Given the description of an element on the screen output the (x, y) to click on. 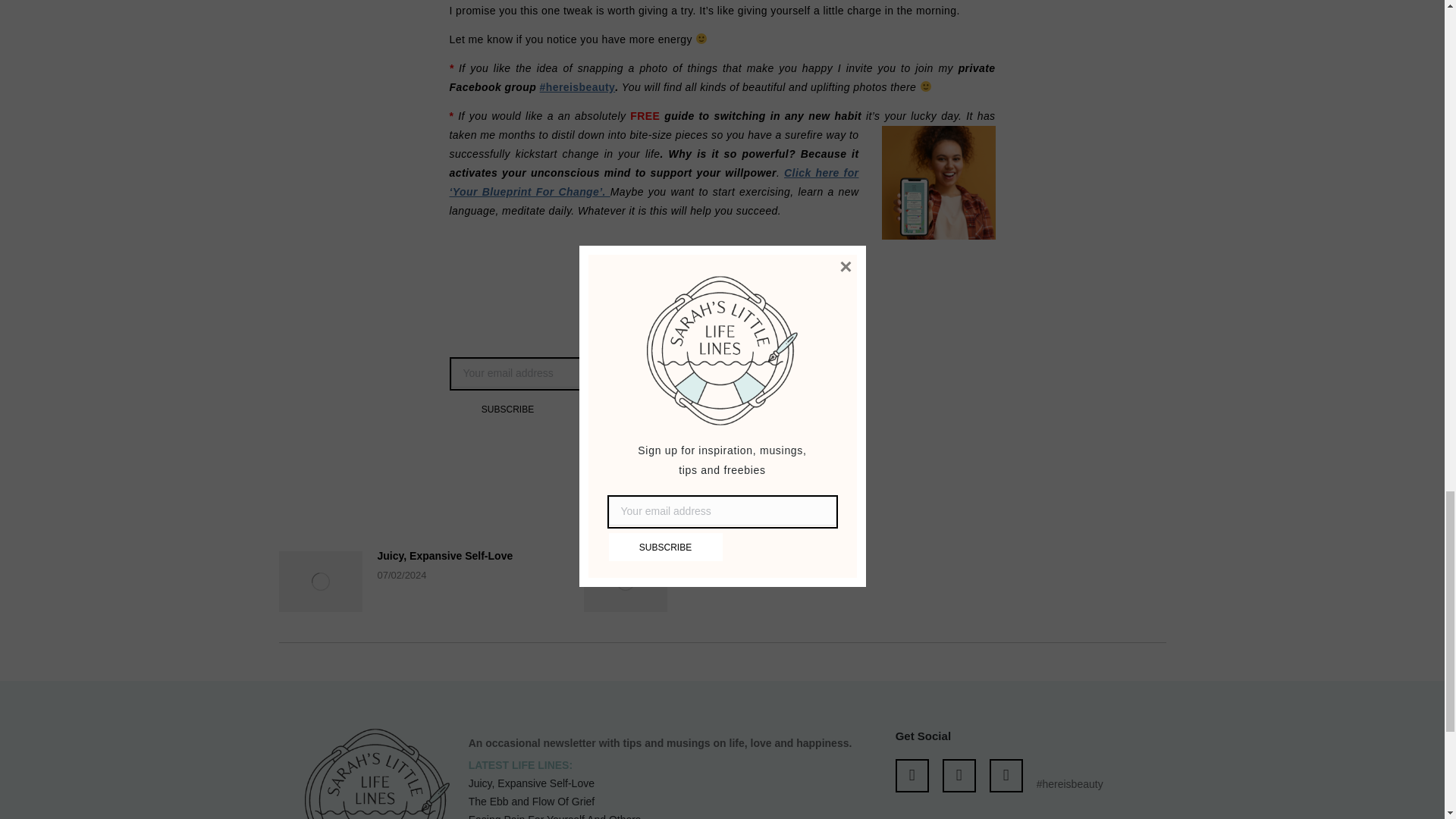
Subscribe (506, 408)
Subscribe (506, 408)
Juicy, Expansive Self-Love (445, 555)
7:31 pm (721, 462)
